Given the description of an element on the screen output the (x, y) to click on. 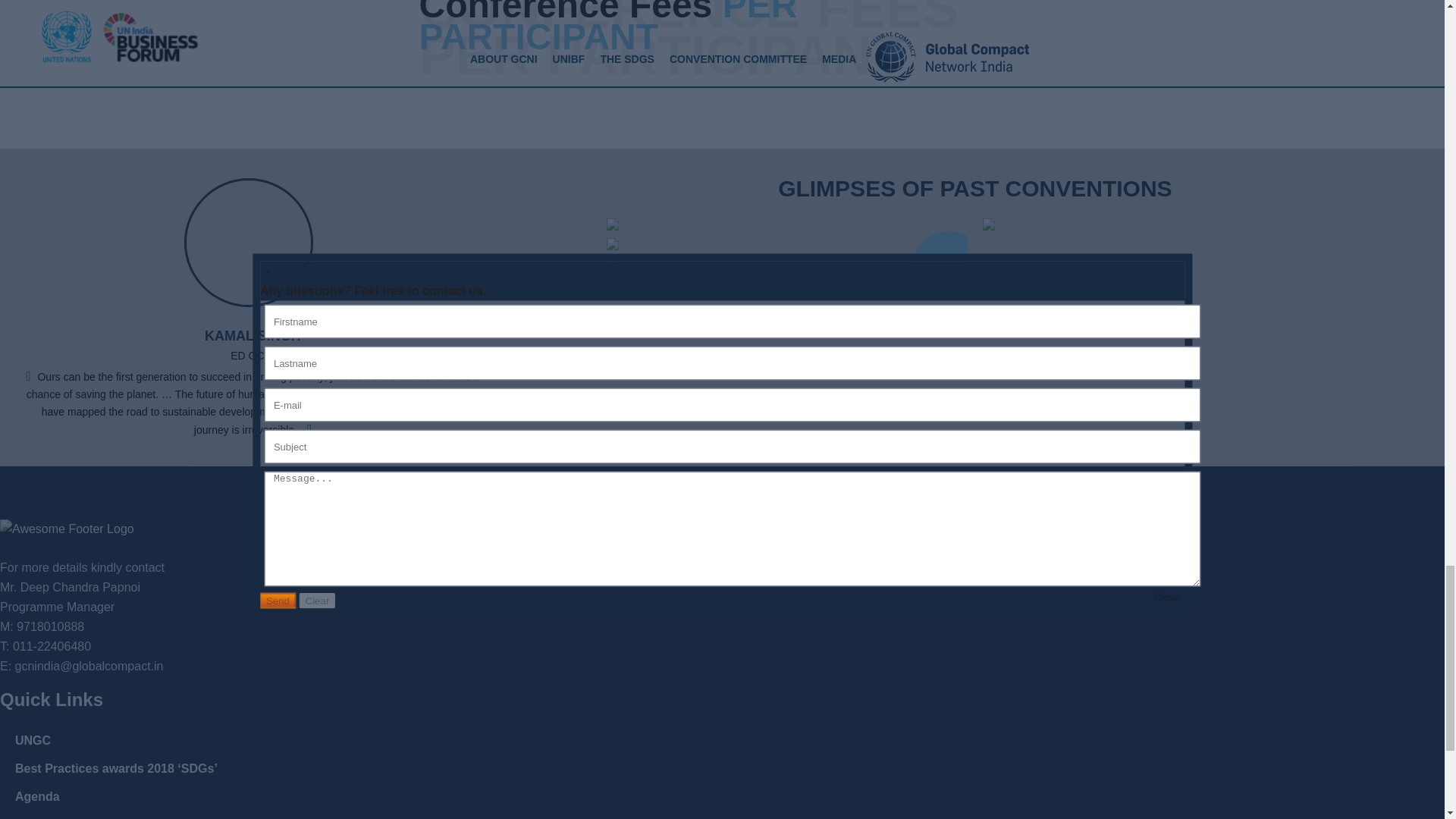
Conference Fees PER PARTICIPANT (722, 26)
Brochure (41, 818)
Agenda (36, 796)
UNGC (32, 739)
